Given the description of an element on the screen output the (x, y) to click on. 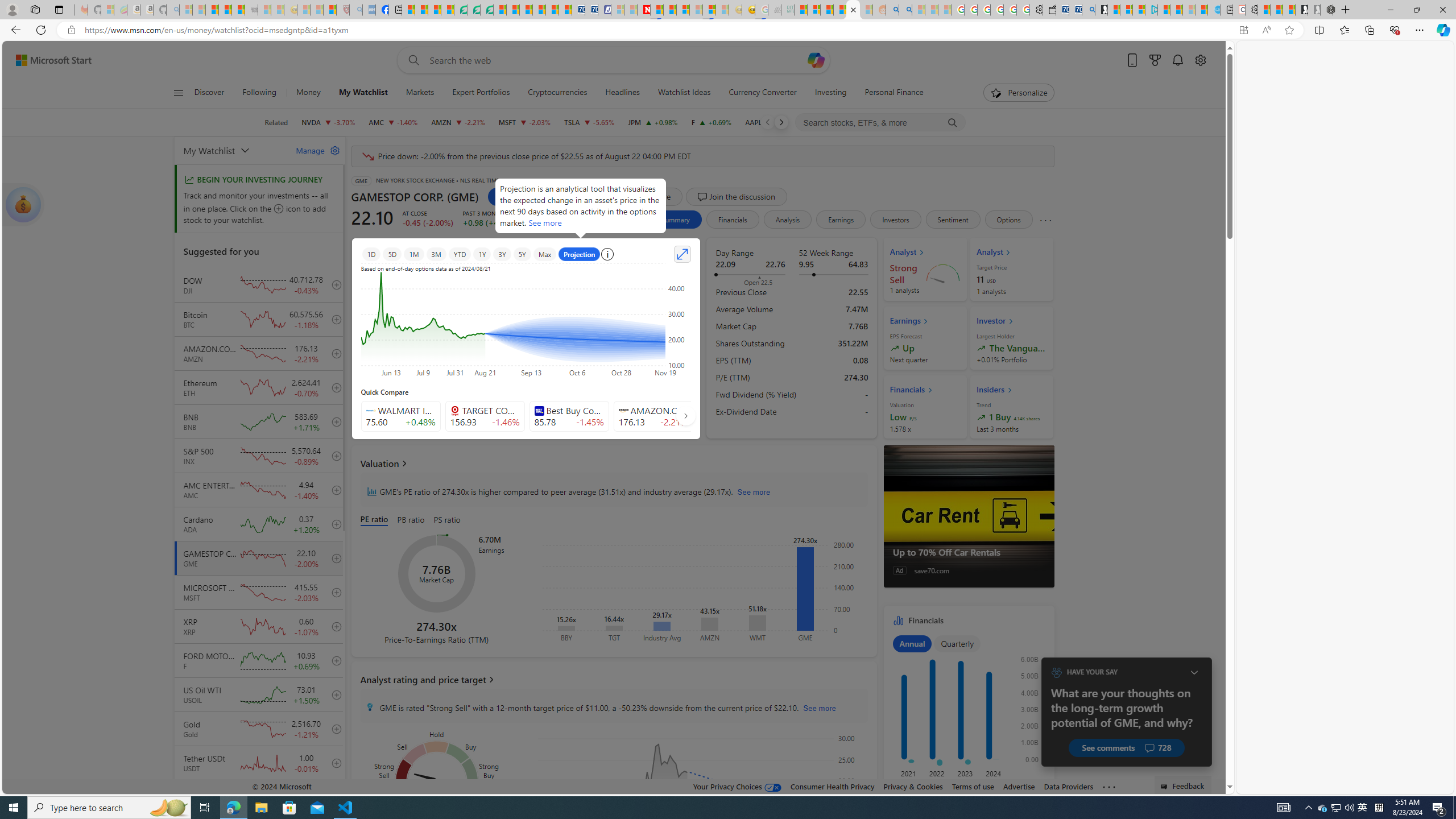
Financials (968, 707)
Enter your search term (617, 59)
Up to 70% Off Car Rentals (968, 552)
Microsoft Start - Sleeping (1188, 9)
Currency Converter (762, 92)
Investors (895, 219)
Class: button-glyph (178, 92)
Cheap Car Rentals - Save70.com (1075, 9)
